Given the description of an element on the screen output the (x, y) to click on. 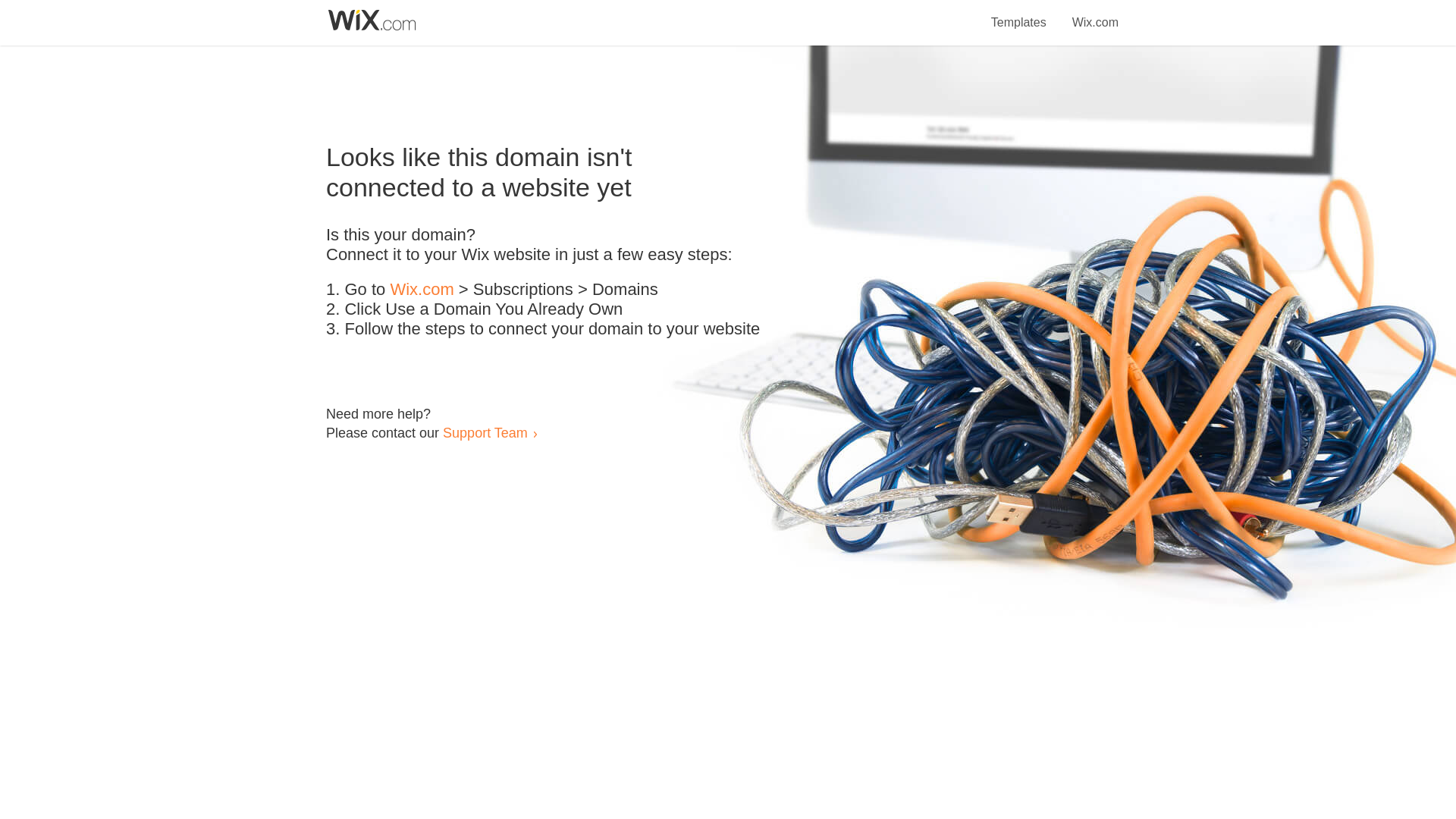
Templates (1018, 14)
Support Team (484, 432)
Wix.com (1095, 14)
Wix.com (421, 289)
